Given the description of an element on the screen output the (x, y) to click on. 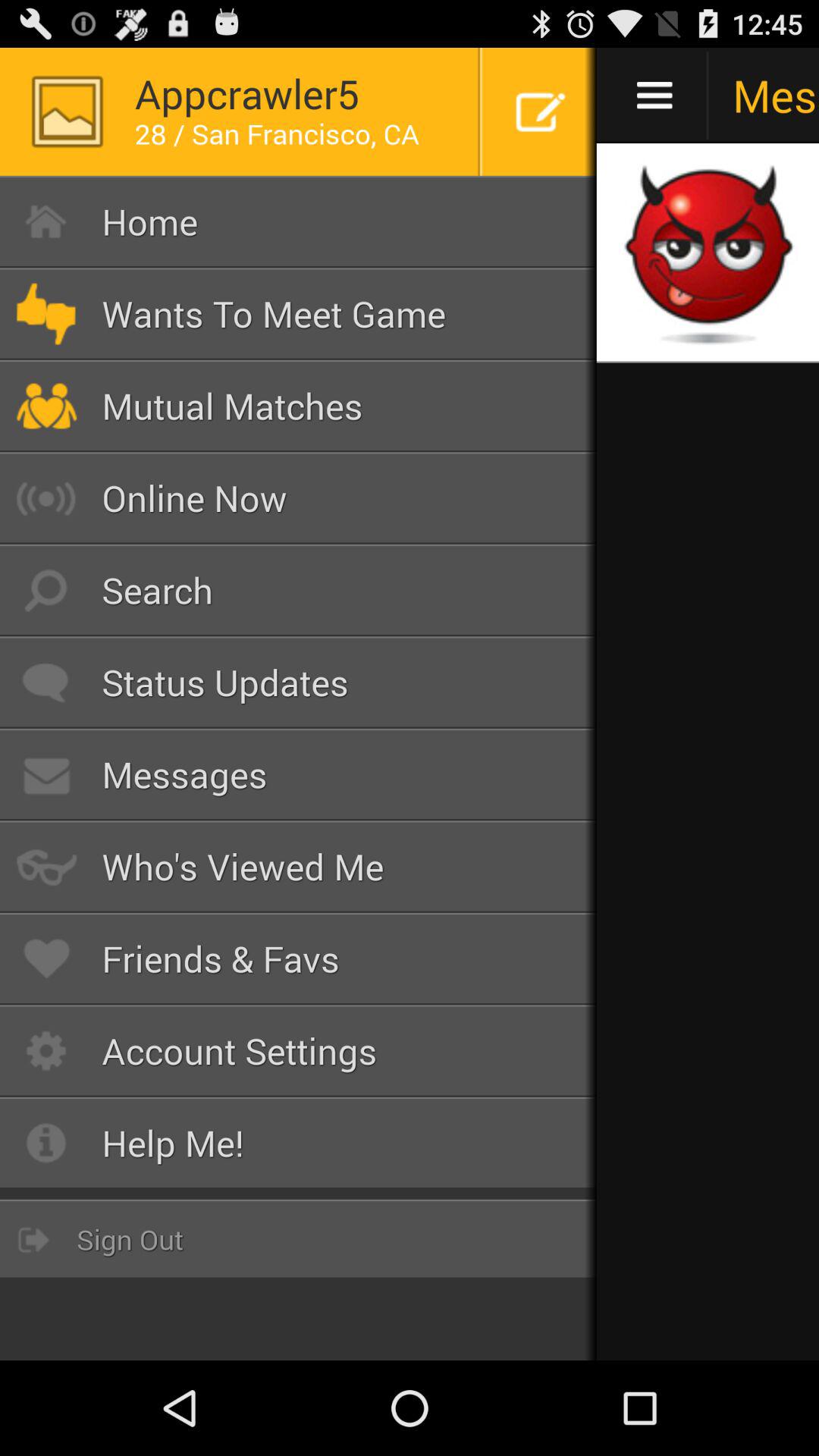
press status updates (298, 682)
